Given the description of an element on the screen output the (x, y) to click on. 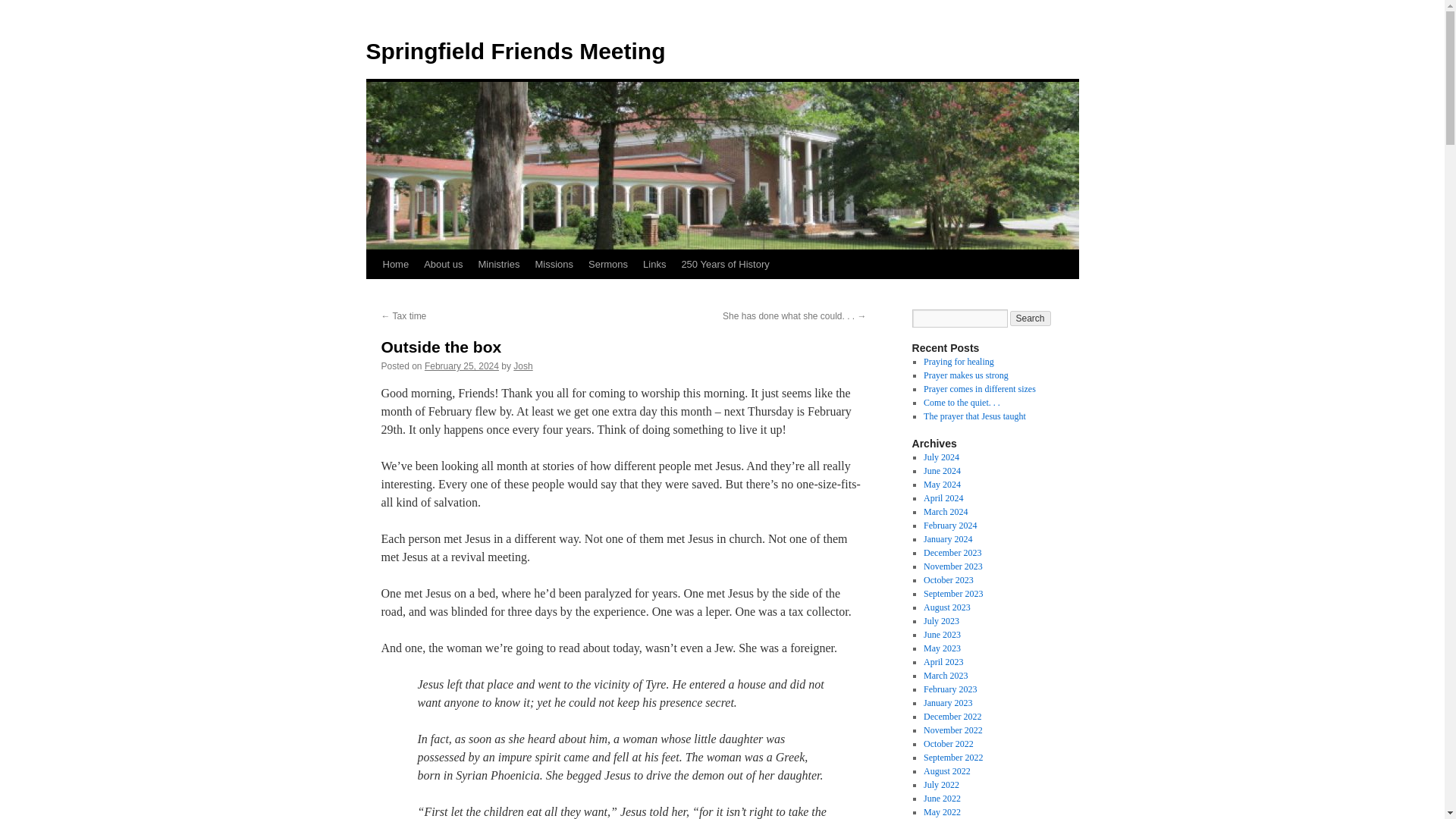
1:46 pm (462, 366)
Sermons (607, 264)
Links (653, 264)
Home (395, 264)
250 Years of History (724, 264)
View all posts by Josh (522, 366)
Ministries (498, 264)
About us (443, 264)
February 25, 2024 (462, 366)
Springfield Friends Meeting (515, 50)
Missions (553, 264)
Search (1030, 318)
